Given the description of an element on the screen output the (x, y) to click on. 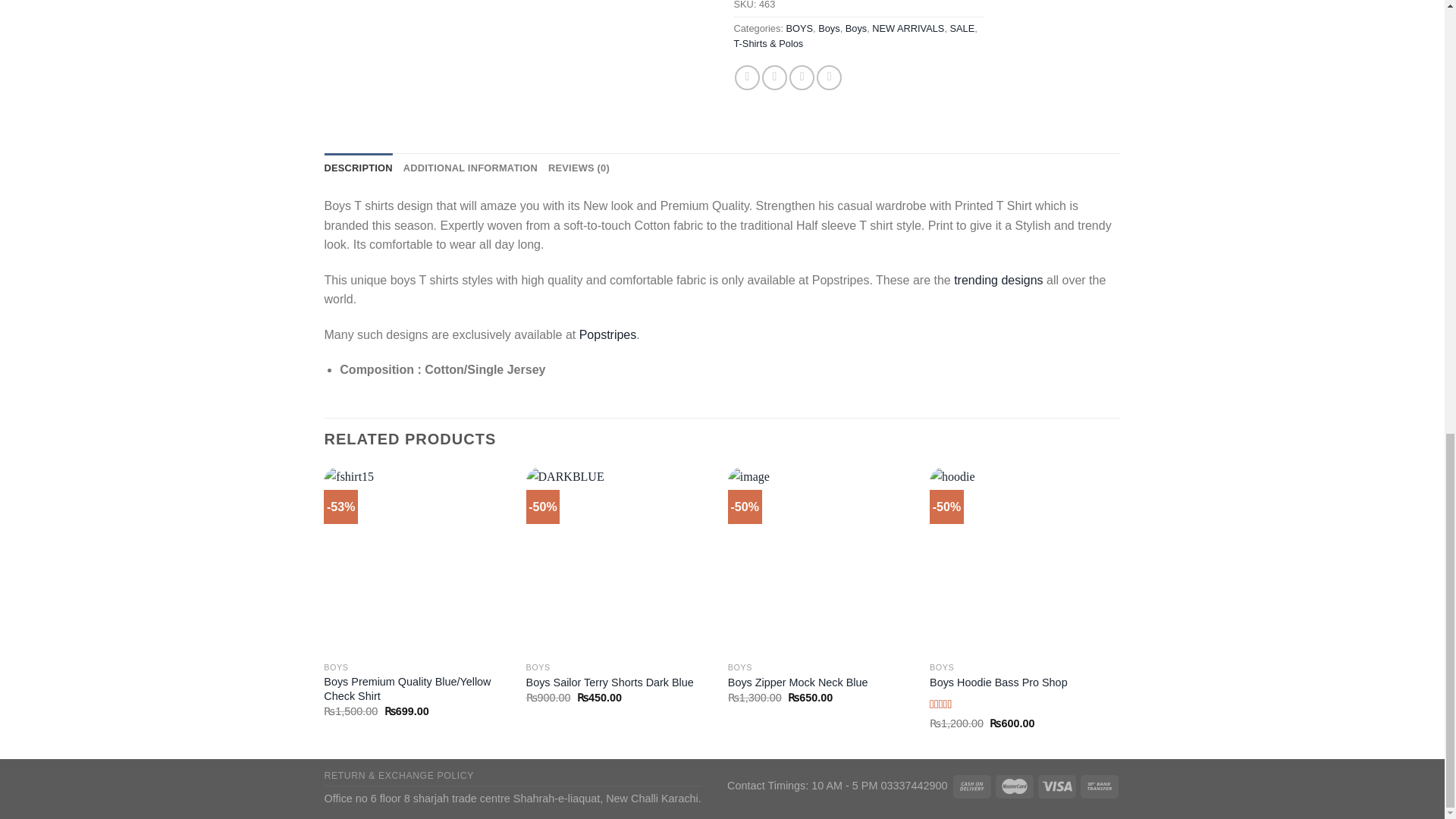
Share on Facebook (747, 77)
Email to a Friend (801, 77)
Share on Twitter (774, 77)
